Given the description of an element on the screen output the (x, y) to click on. 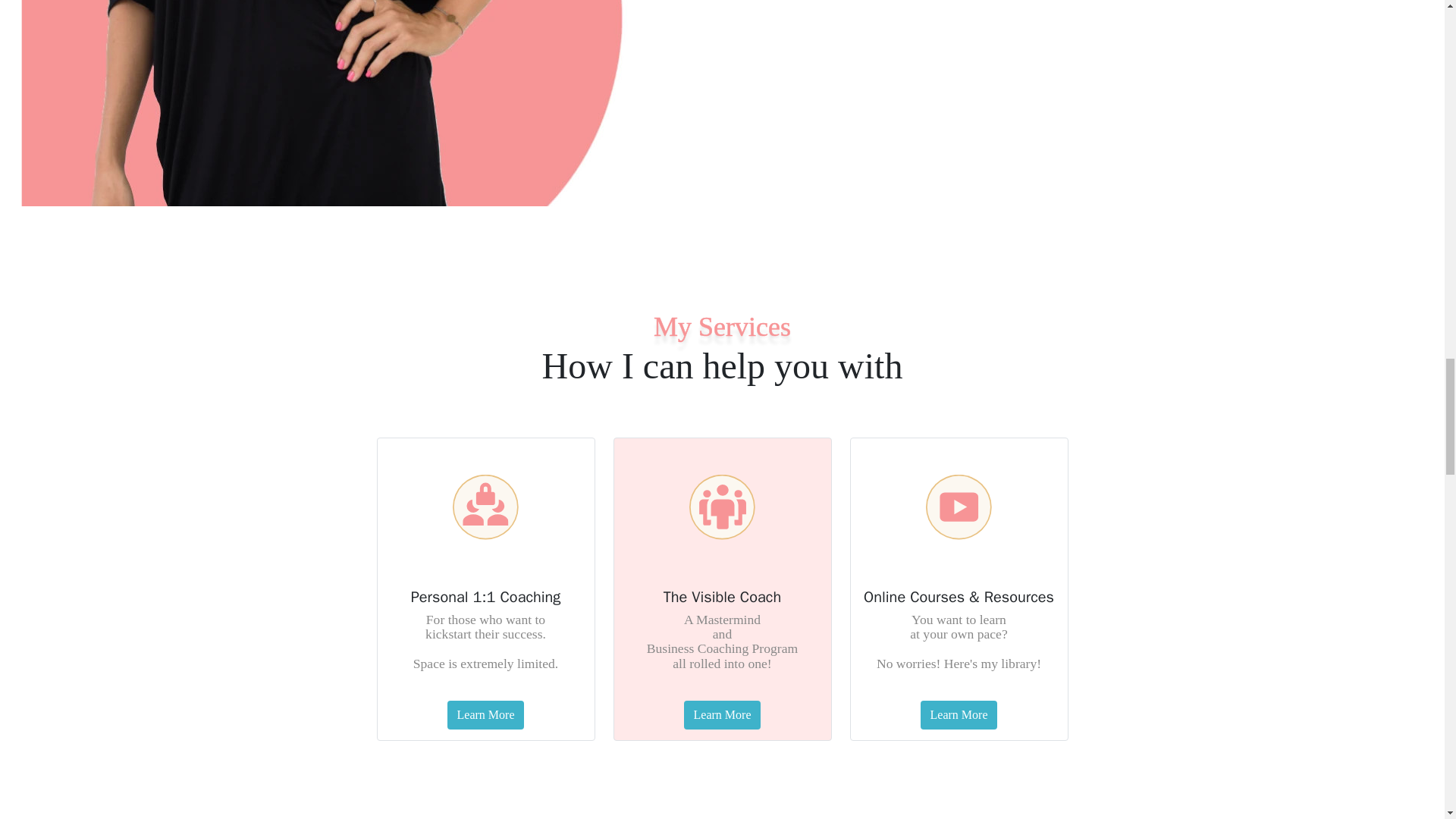
Learn More (722, 715)
Learn More (485, 715)
Learn More (958, 715)
